Given the description of an element on the screen output the (x, y) to click on. 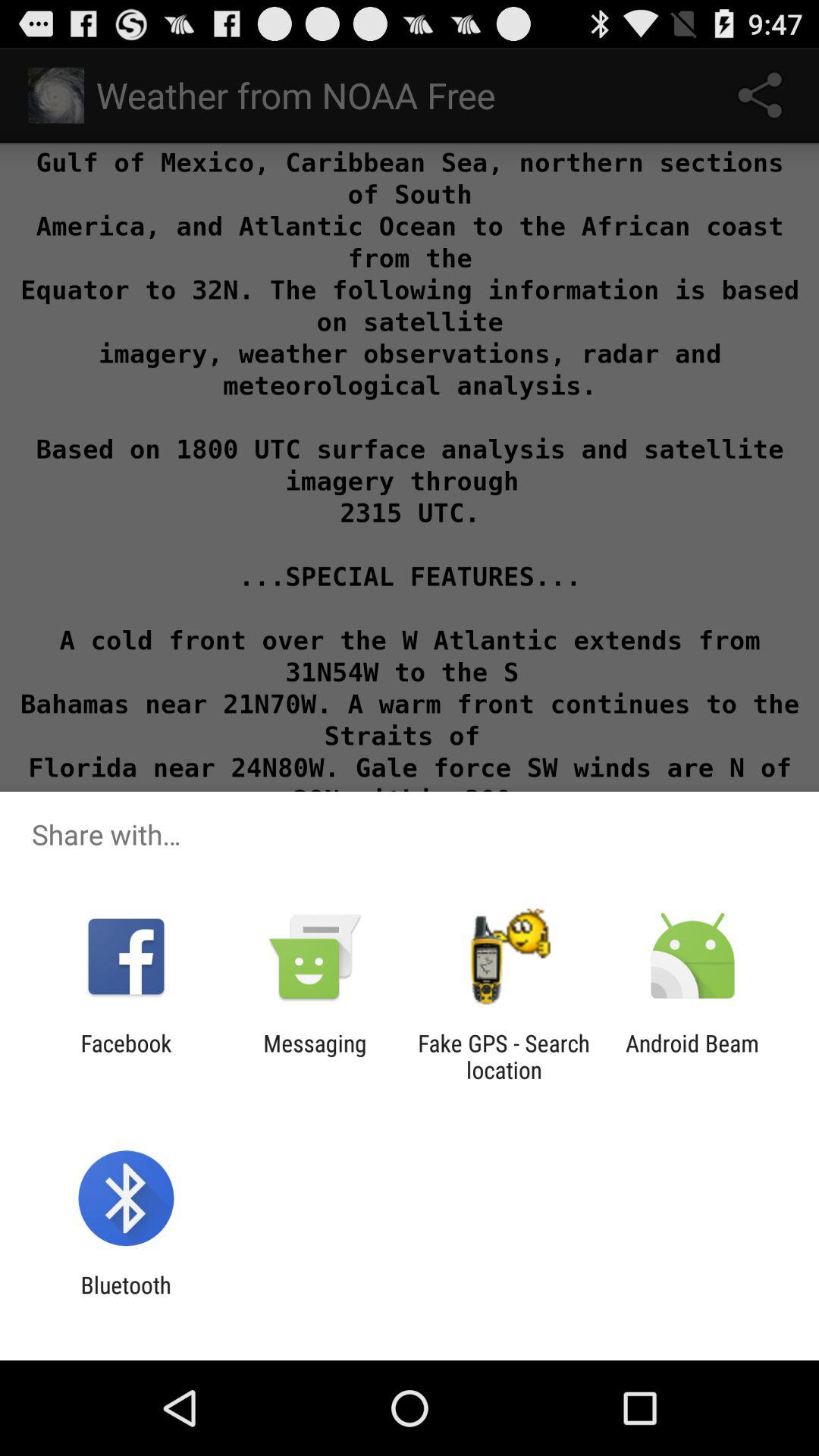
choose the app next to messaging icon (503, 1056)
